Given the description of an element on the screen output the (x, y) to click on. 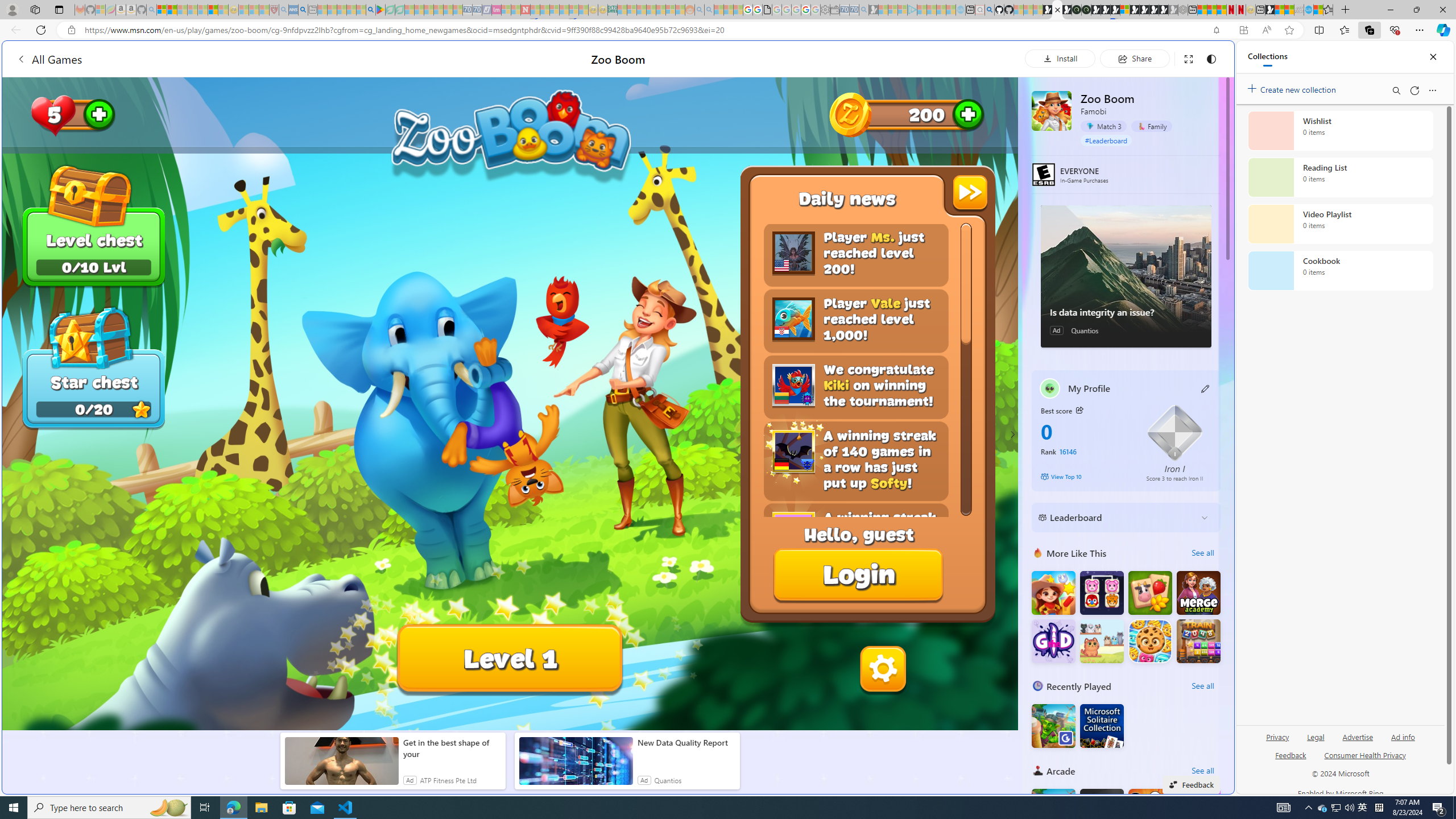
Is data integrity an issue? (1126, 276)
World - MSN (1279, 9)
Ad info (1402, 736)
MSN (1118, 536)
Robert H. Shmerling, MD - Harvard Health - Sleeping (273, 9)
More Like This (1037, 552)
Family (1151, 126)
google - Search (370, 9)
Local - MSN - Sleeping (263, 9)
Class: button edit-icon (1205, 388)
Onet Connect (1101, 592)
